Given the description of an element on the screen output the (x, y) to click on. 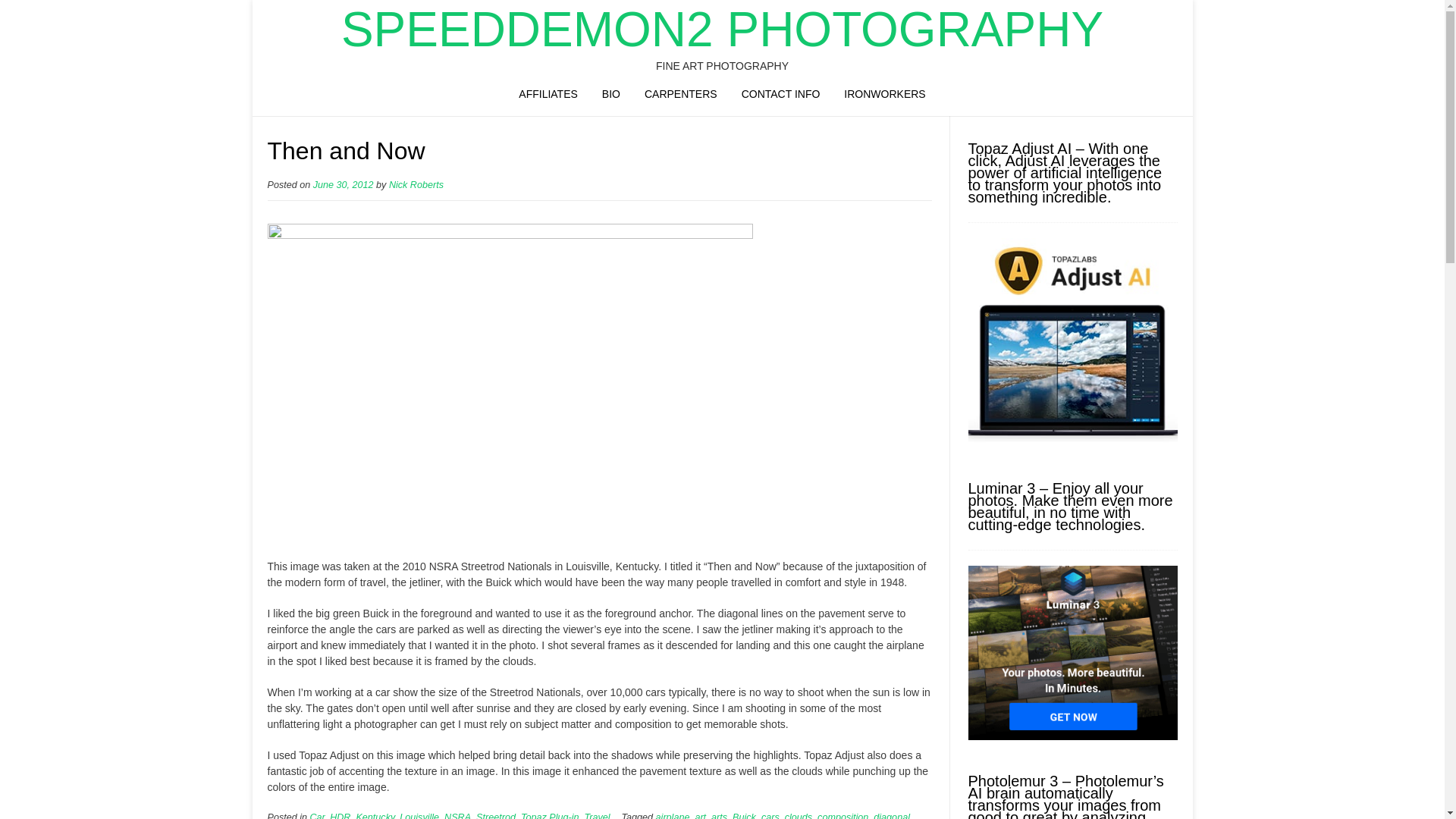
arts (718, 815)
composition (841, 815)
BIO (610, 96)
CONTACT INFO (780, 96)
Adjust AI (1072, 443)
Travel (596, 815)
clouds (798, 815)
Louisville (418, 815)
Speeddemon2 Photography (721, 29)
